Given the description of an element on the screen output the (x, y) to click on. 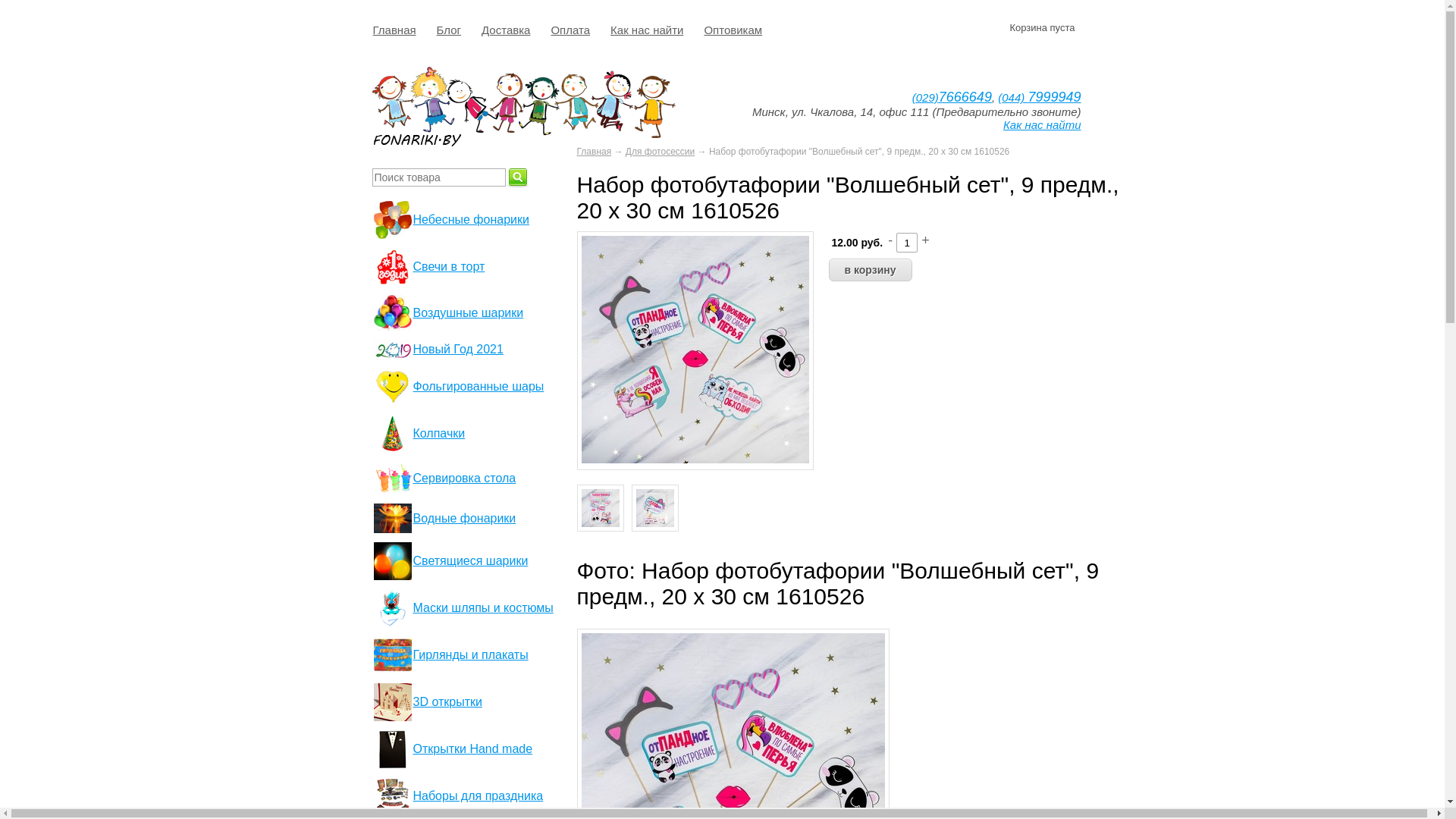
(029)7666649 Element type: text (951, 97)
(044) 7999949 Element type: text (1038, 97)
